Given the description of an element on the screen output the (x, y) to click on. 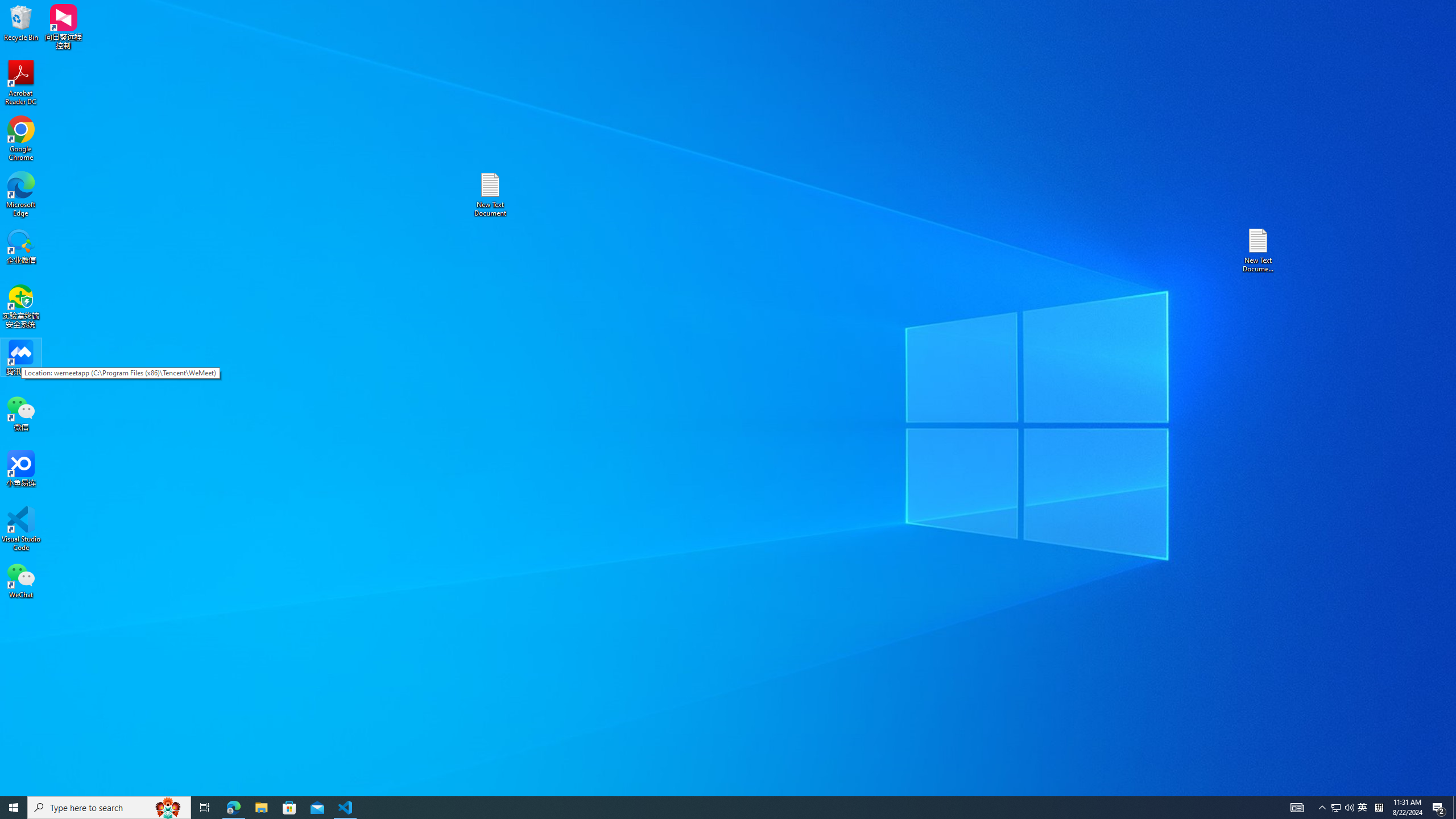
Google Chrome (21, 138)
Acrobat Reader DC (1362, 807)
Recycle Bin (21, 82)
Visual Studio Code (21, 22)
Tray Input Indicator - Chinese (Simplified, China) (21, 528)
New Text Document (1378, 807)
